Given the description of an element on the screen output the (x, y) to click on. 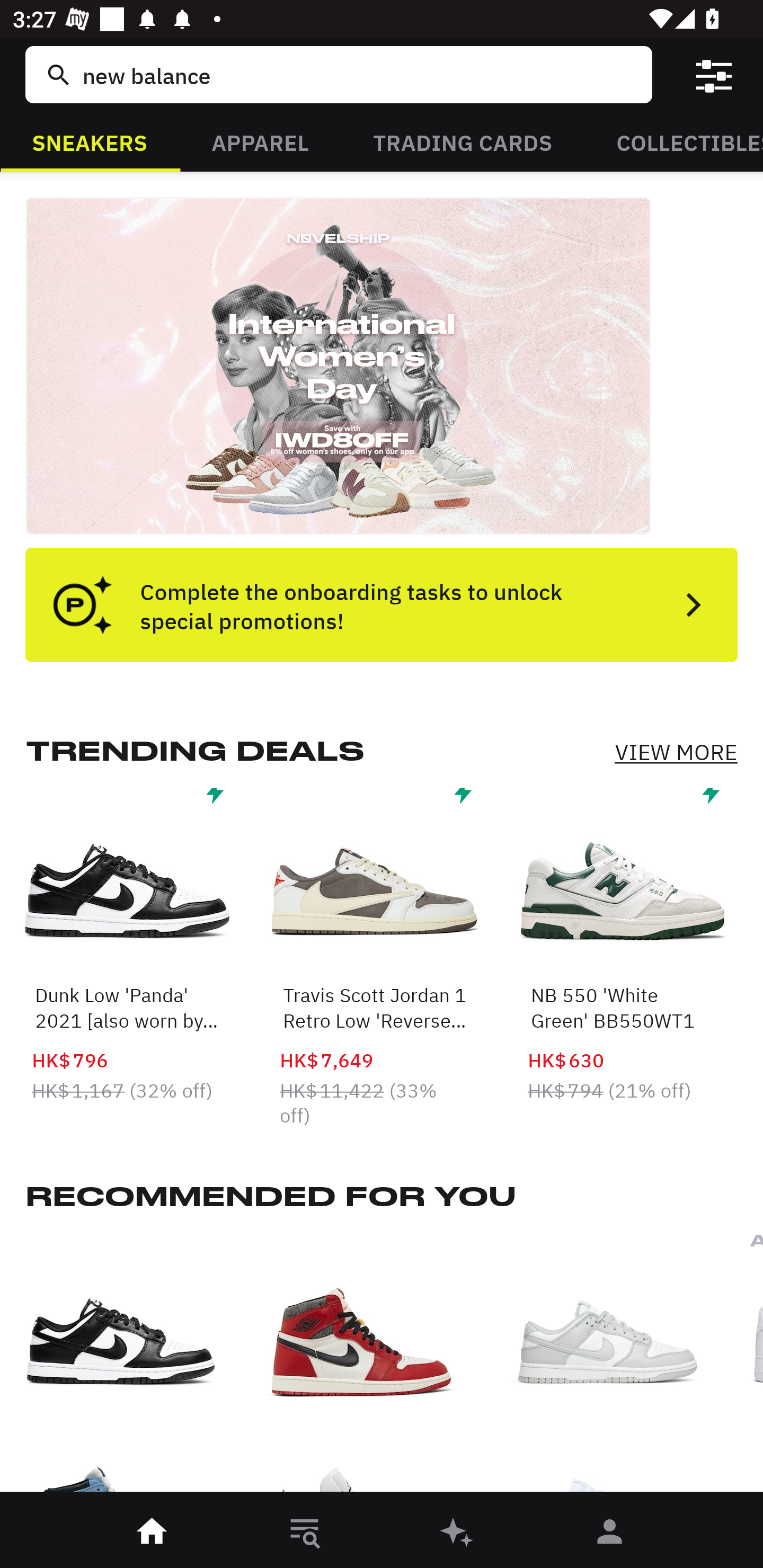
new balance (358, 74)
 (713, 74)
SNEAKERS (89, 140)
APPAREL (260, 140)
TRADING CARDS (462, 140)
COLLECTIBLES (673, 140)
VIEW MORE (675, 752)
󰋜 (152, 1532)
󱎸 (305, 1532)
󰫢 (457, 1532)
󰀄 (610, 1532)
